Given the description of an element on the screen output the (x, y) to click on. 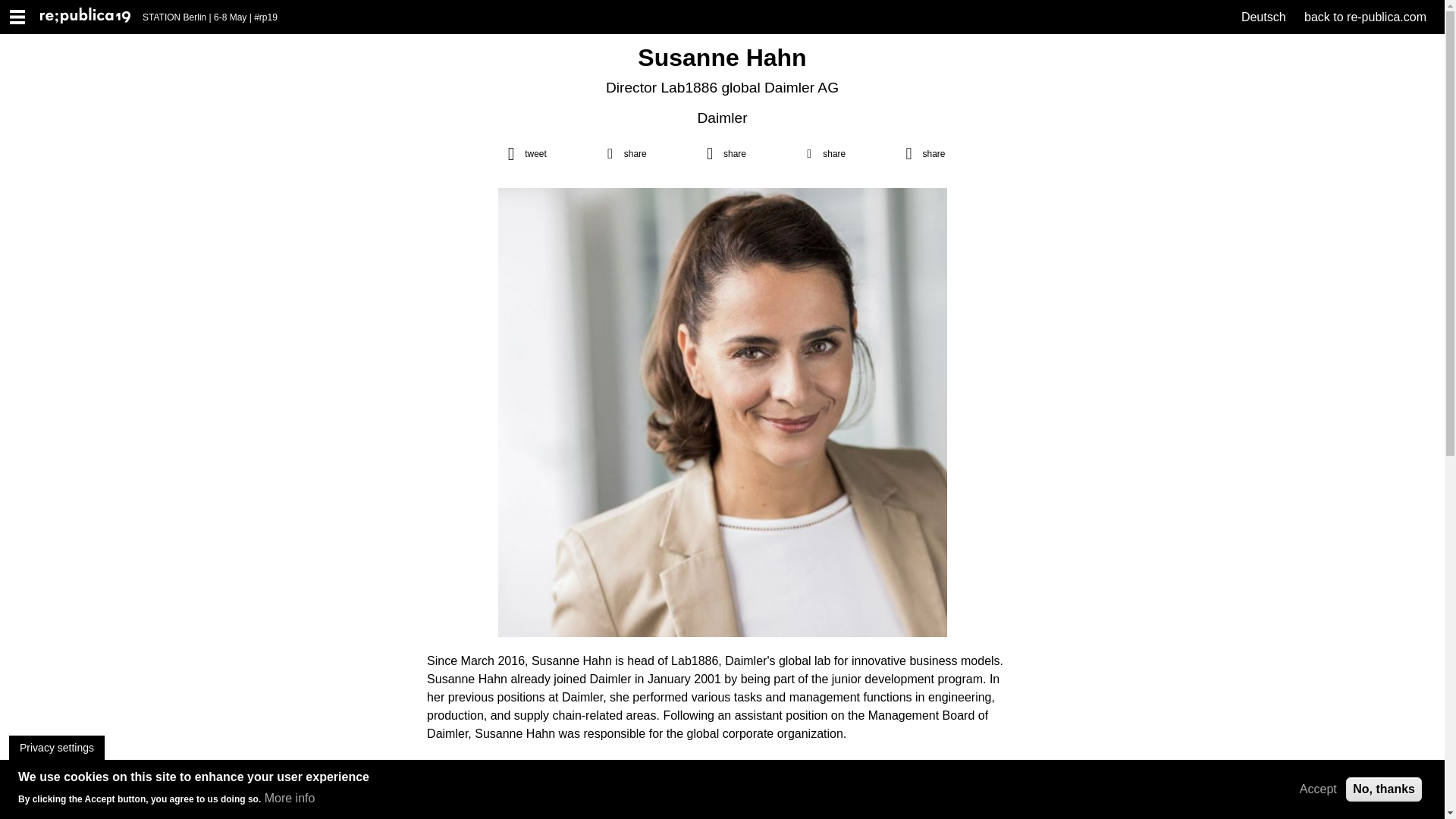
Share on Facebook (621, 153)
back to re-publica.com (1365, 17)
No, thanks (1383, 789)
Share on Twitter (522, 153)
Share on Diaspora (821, 153)
Accept (1318, 789)
Privacy settings (56, 747)
Share on Whatsapp (722, 153)
Home (91, 17)
Deutsch (1263, 17)
